Given the description of an element on the screen output the (x, y) to click on. 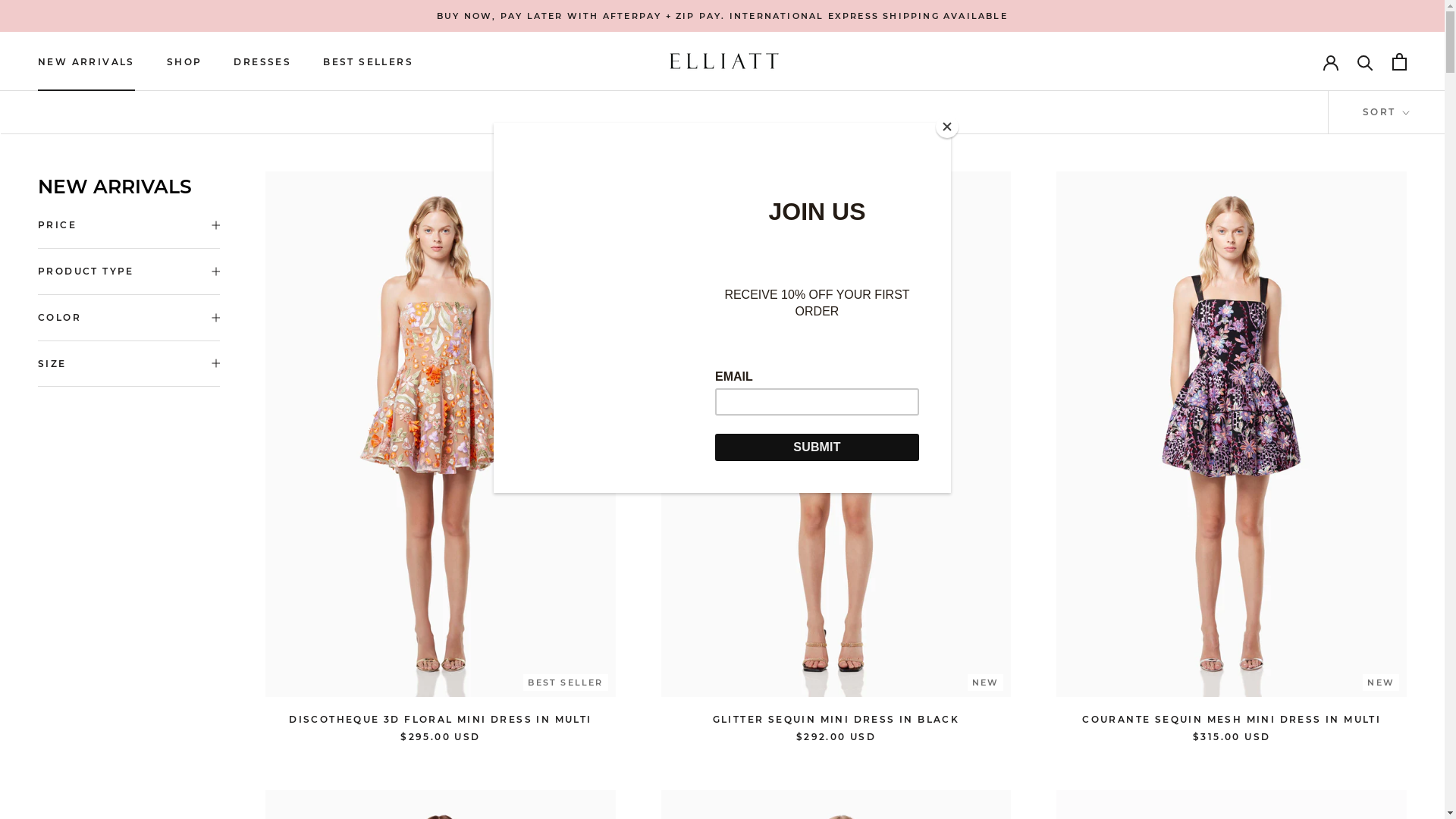
PRICE Element type: text (128, 224)
DISCOTHEQUE 3D FLORAL MINI DRESS IN MULTI Element type: text (439, 718)
COLOR Element type: text (128, 317)
BEST SELLERS
BEST SELLERS Element type: text (368, 61)
SIZE Element type: text (128, 363)
PRODUCT TYPE Element type: text (128, 271)
NEW ARRIVALS
NEW ARRIVALS Element type: text (85, 61)
GLITTER SEQUIN MINI DRESS IN BLACK Element type: text (836, 718)
COURANTE SEQUIN MESH MINI DRESS IN MULTI Element type: text (1231, 718)
DRESSES Element type: text (262, 61)
SORT Element type: text (1385, 112)
SHOP
SHOP Element type: text (184, 61)
